Given the description of an element on the screen output the (x, y) to click on. 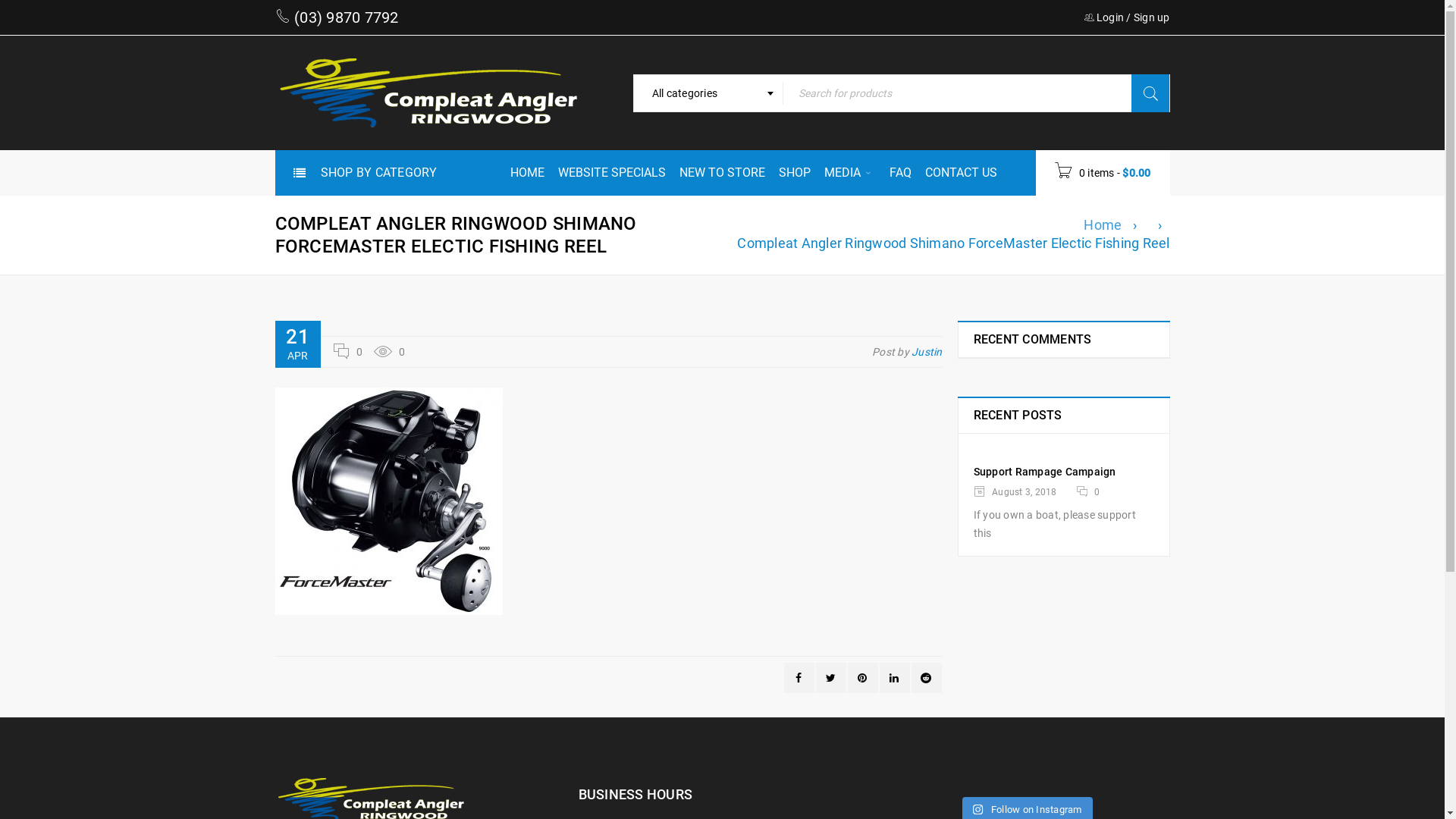
Justin Element type: text (926, 351)
MEDIA Element type: text (849, 172)
Home Element type: text (1102, 225)
WEBSITE SPECIALS Element type: text (611, 172)
NEW TO STORE Element type: text (722, 172)
Search Element type: hover (1150, 93)
HOME Element type: text (526, 172)
0 items - $0.00 Element type: text (1102, 172)
SHOP Element type: text (793, 172)
CONTACT US Element type: text (961, 172)
FAQ Element type: text (899, 172)
Search Element type: text (1150, 93)
Compleat Angler Element type: hover (425, 92)
Login Element type: text (1109, 17)
Sign up Element type: text (1151, 17)
(03) 9870 7792 Element type: text (344, 17)
Support Rampage Campaign Element type: text (1044, 471)
